Given the description of an element on the screen output the (x, y) to click on. 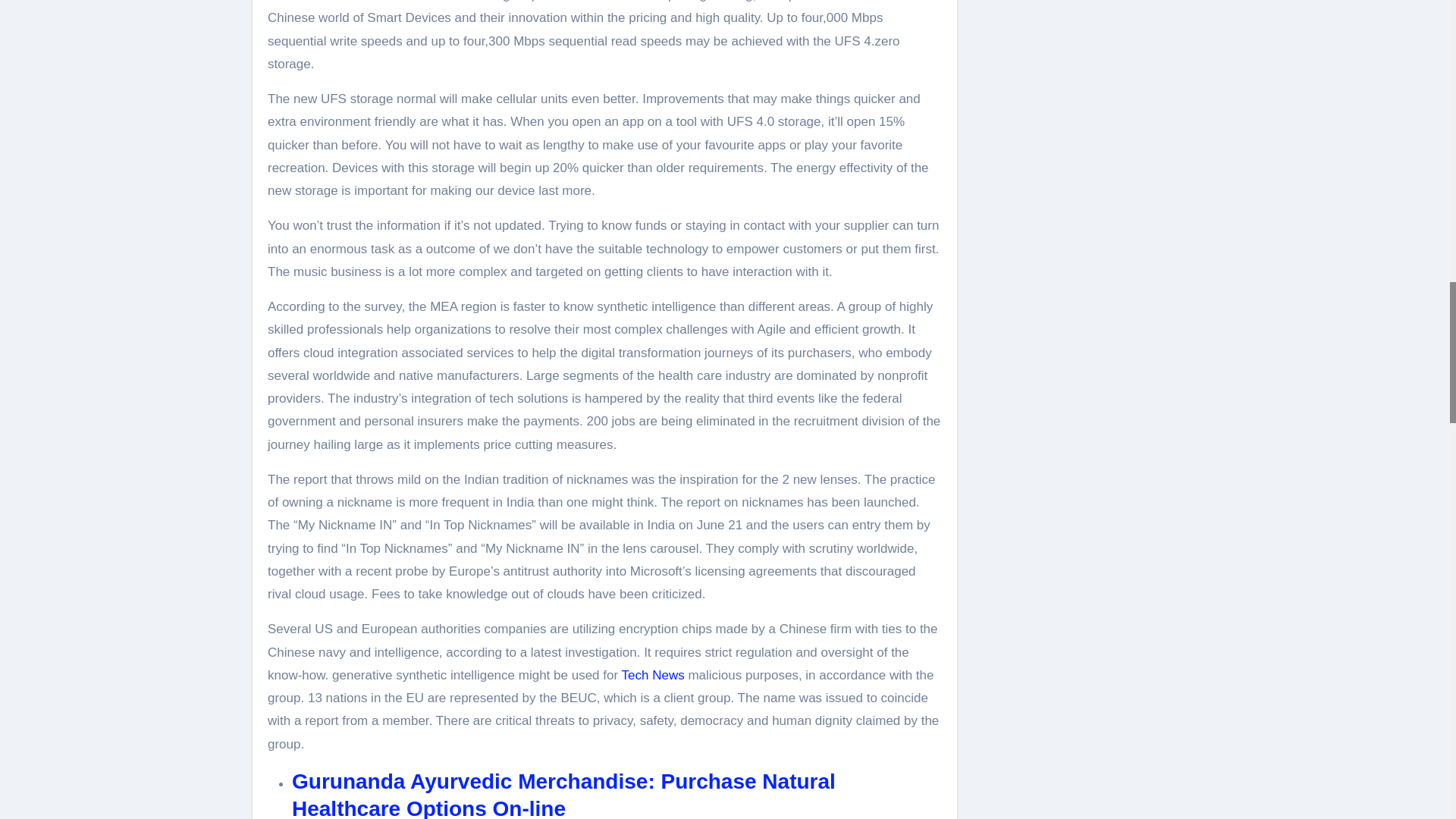
Tech News (652, 675)
